Given the description of an element on the screen output the (x, y) to click on. 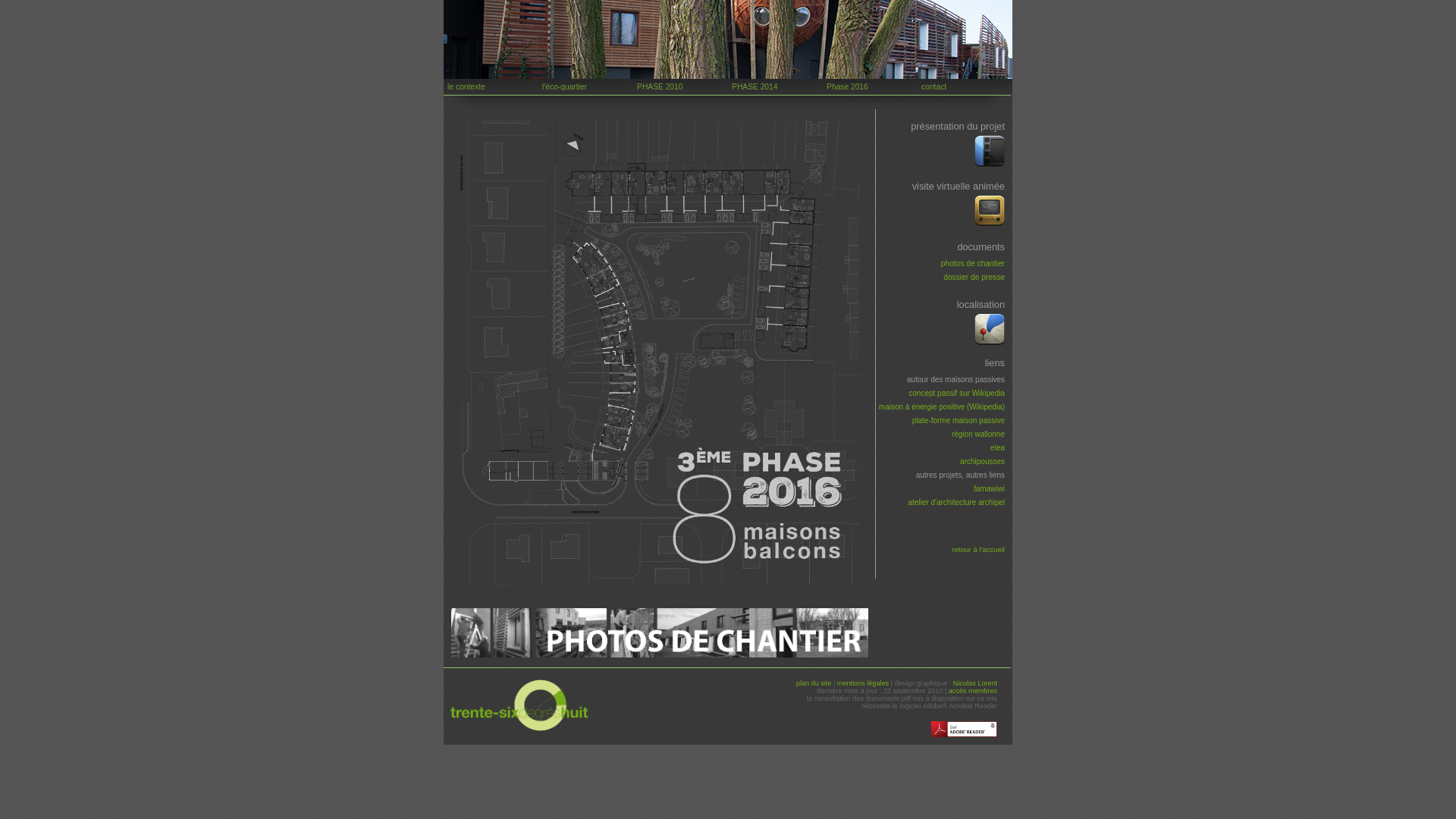
famawiwi Element type: text (988, 488)
photos de chantier Element type: text (972, 263)
concept passif sur Wikipedia Element type: text (956, 393)
atelier d'architecture archipel Element type: text (955, 502)
plan du site Element type: text (813, 683)
contact Element type: text (964, 86)
elea Element type: text (997, 447)
plate-forme maison passive Element type: text (958, 420)
PHASE 2010 Element type: text (680, 86)
PHASE 2014 Element type: text (775, 86)
dossier de presse Element type: text (973, 277)
Phase 2016 Element type: text (869, 86)
Nicolas Lorent Element type: text (975, 683)
archipousses Element type: text (982, 461)
le contexte Element type: text (490, 86)
